Given the description of an element on the screen output the (x, y) to click on. 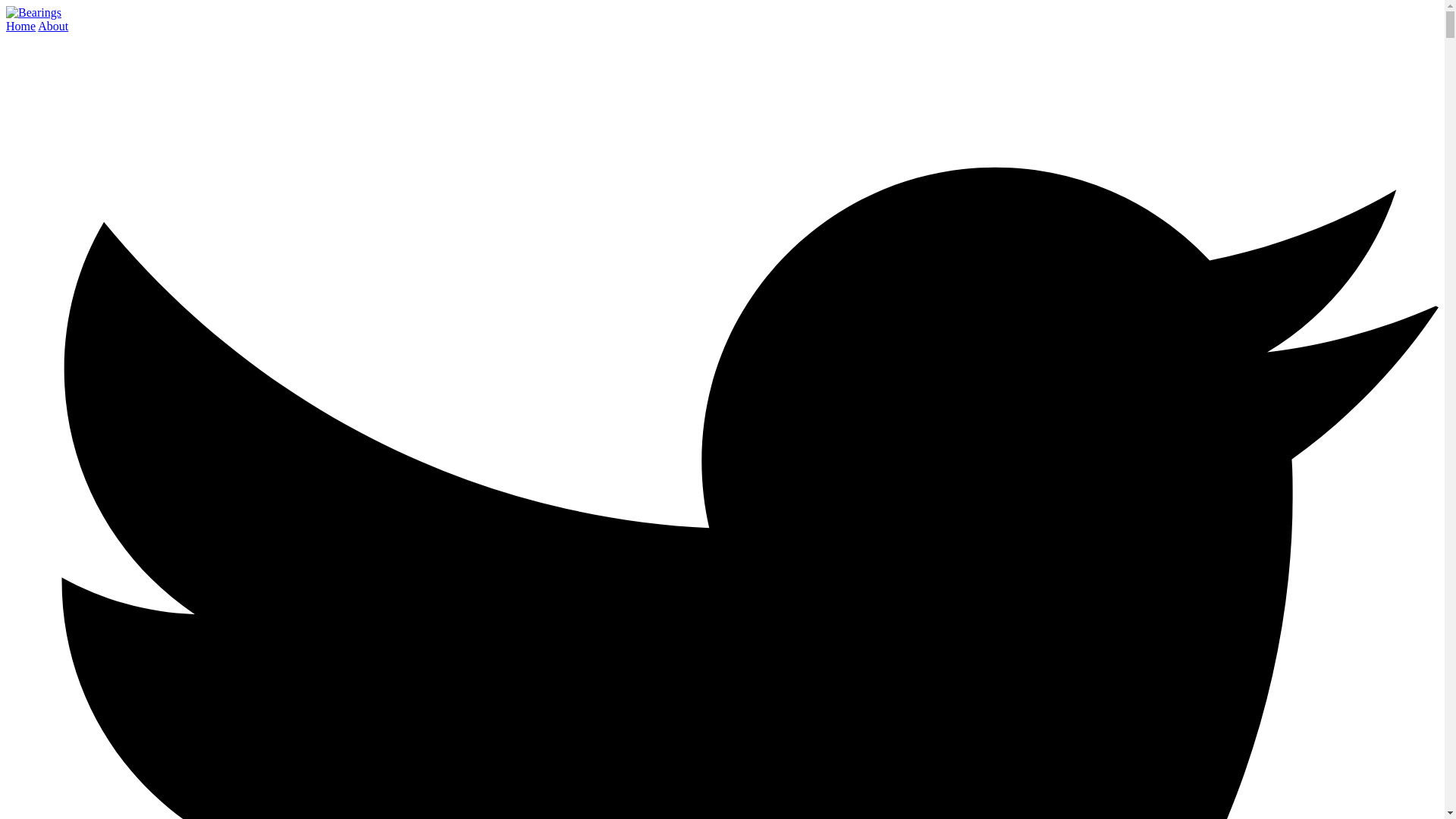
Home (19, 25)
About (52, 25)
